Given the description of an element on the screen output the (x, y) to click on. 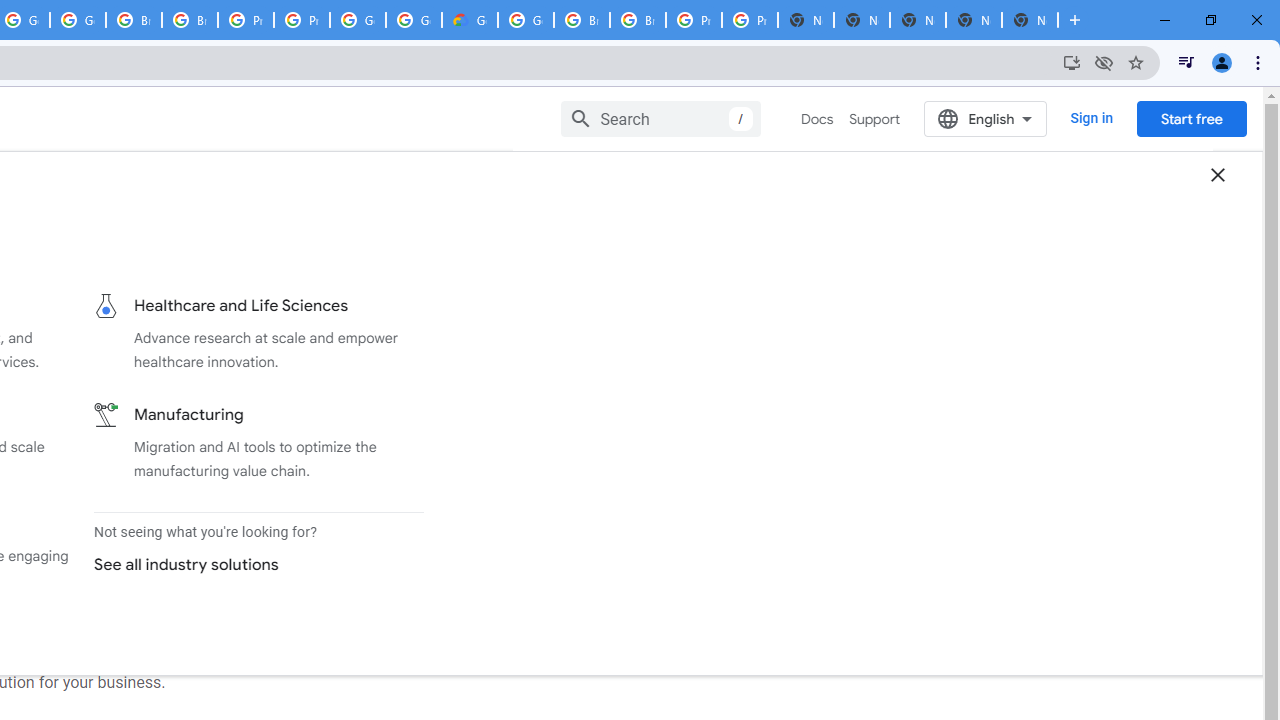
Browse Chrome as a guest - Computer - Google Chrome Help (134, 20)
See all industry solutions (250, 564)
English (985, 118)
Support (874, 119)
Google Cloud Platform (525, 20)
Google Cloud Platform (413, 20)
Start free (1191, 118)
